Given the description of an element on the screen output the (x, y) to click on. 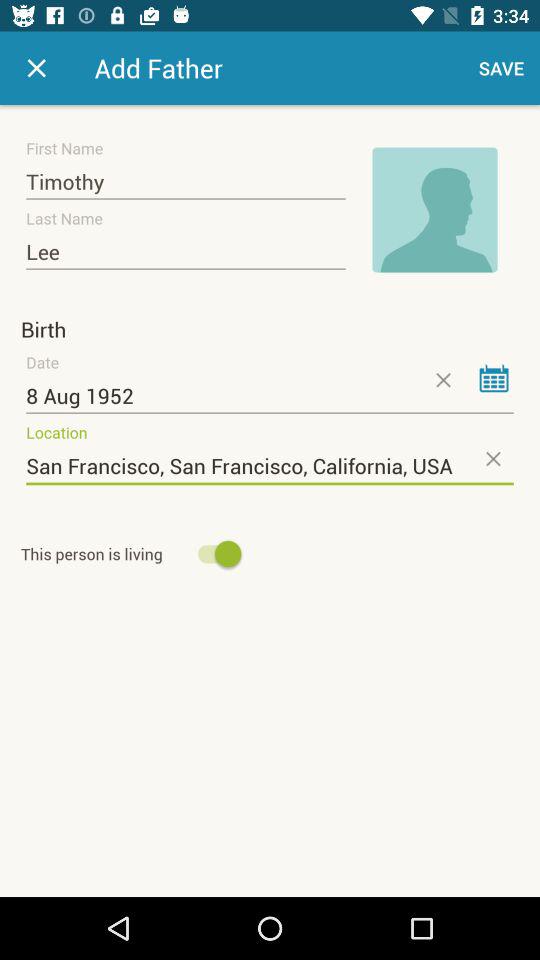
jump until the save (501, 67)
